Given the description of an element on the screen output the (x, y) to click on. 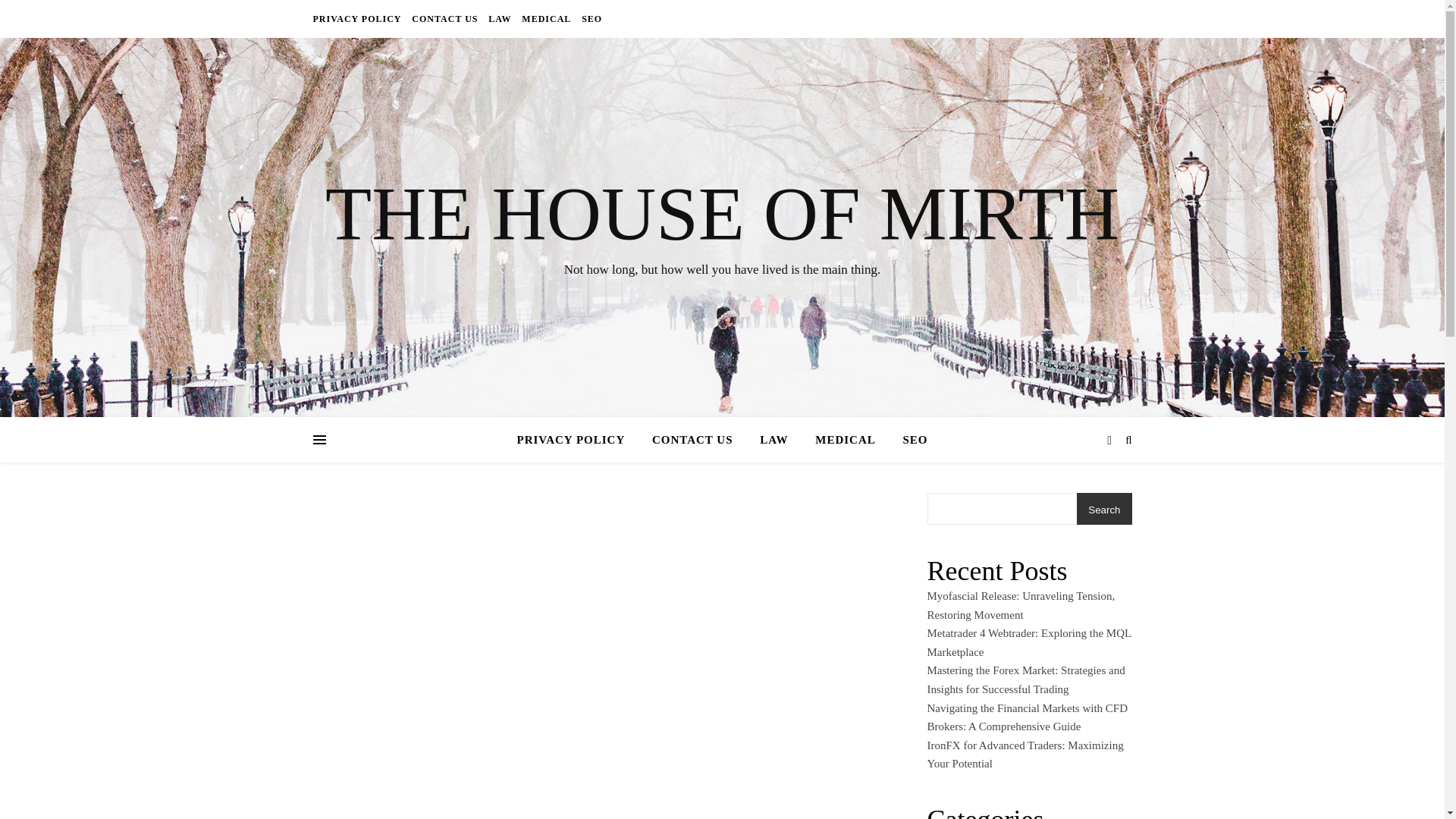
Search (1104, 510)
CONTACT US (444, 18)
PRIVACY POLICY (358, 18)
Metatrader 4 Webtrader: Exploring the MQL Marketplace (1028, 642)
MEDICAL (546, 18)
IronFX for Advanced Traders: Maximizing Your Potential (1024, 754)
CONTACT US (692, 439)
PRIVACY POLICY (576, 439)
Myofascial Release: Unraveling Tension, Restoring Movement (1020, 604)
LAW (773, 439)
MEDICAL (845, 439)
